Given the description of an element on the screen output the (x, y) to click on. 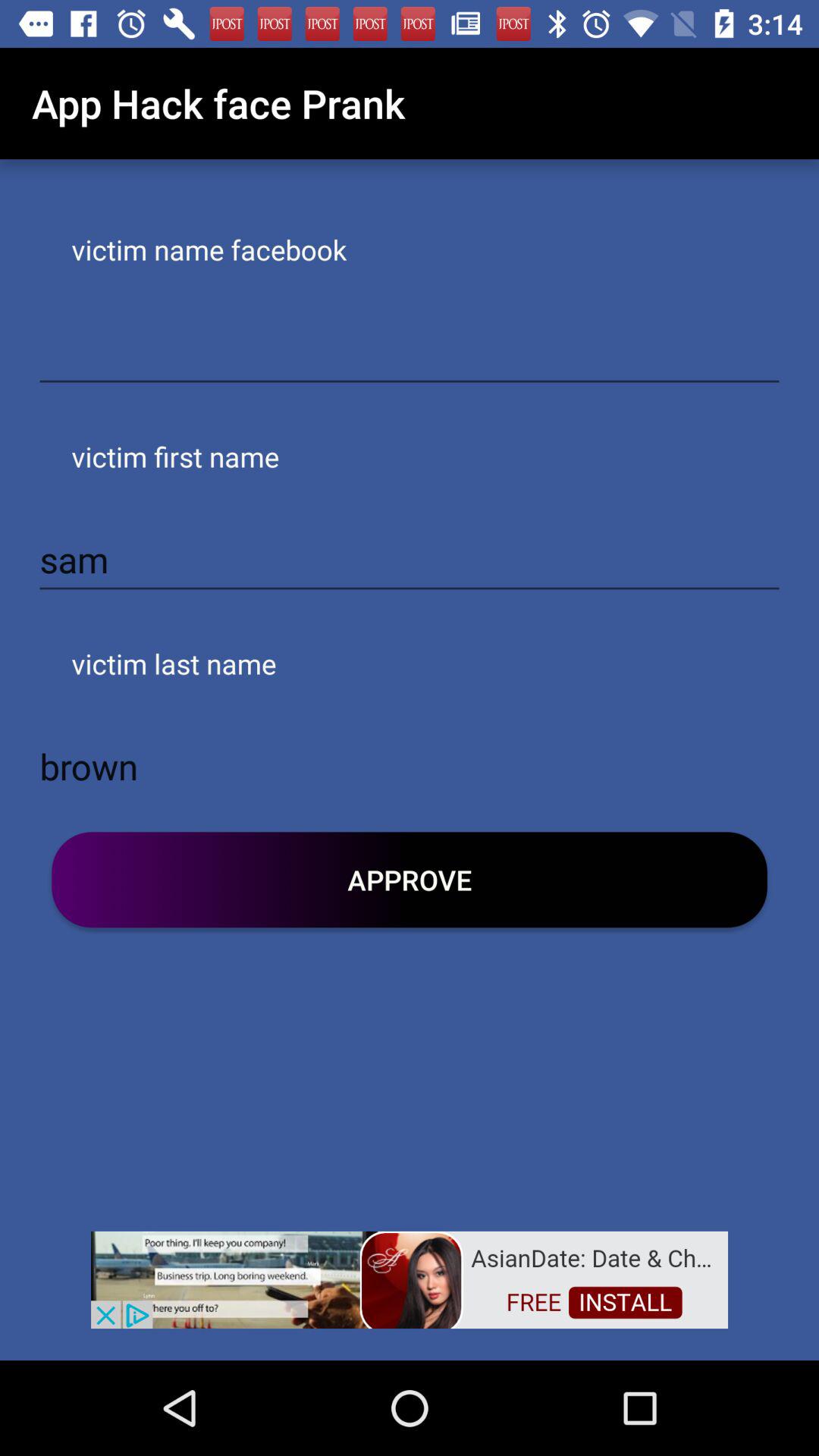
persons name (409, 353)
